Given the description of an element on the screen output the (x, y) to click on. 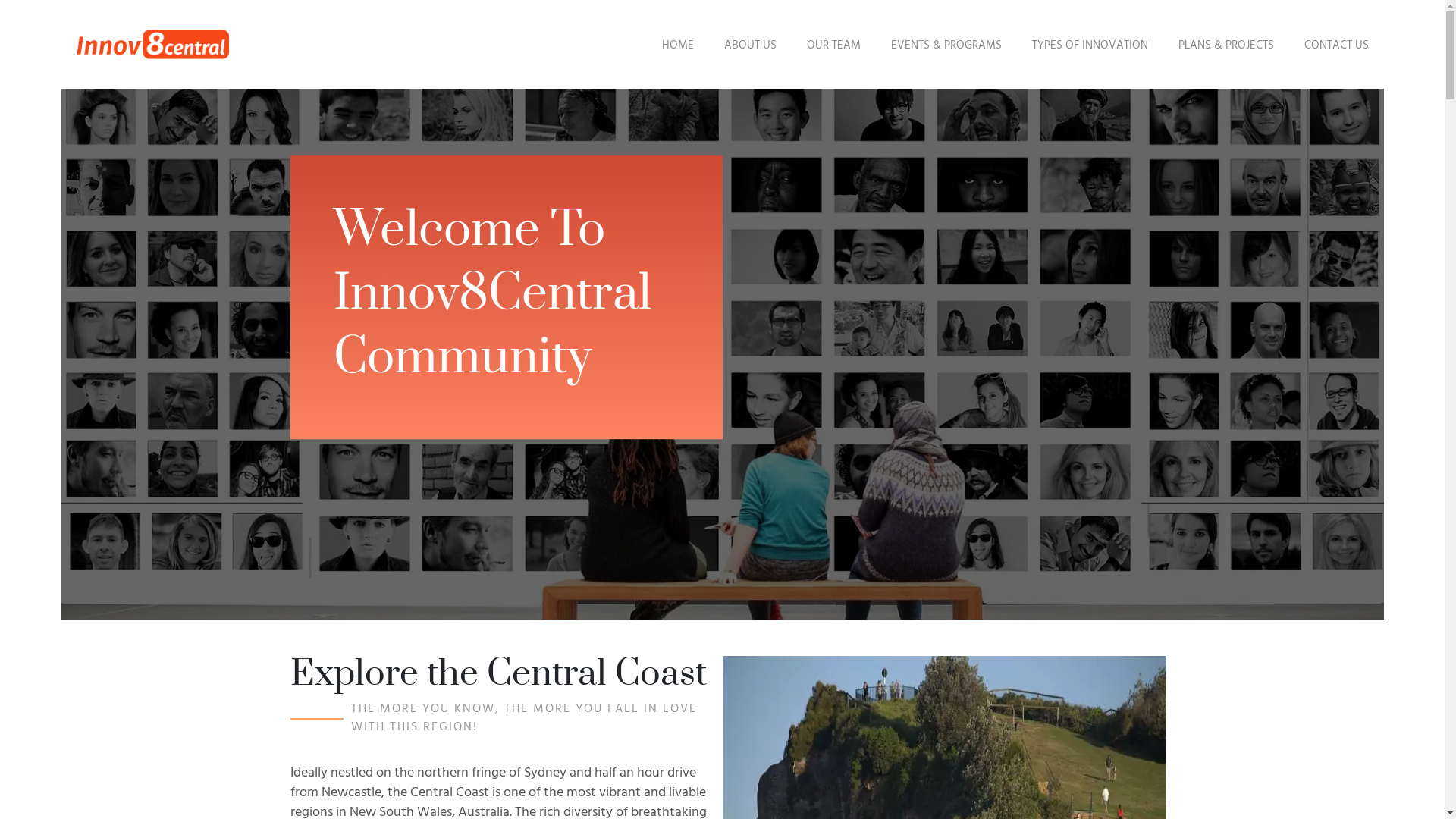
CONTACT US Element type: text (1336, 44)
TYPES OF INNOVATION Element type: text (1089, 44)
HOME Element type: text (677, 44)
OUR TEAM Element type: text (833, 44)
ABOUT US Element type: text (749, 44)
EVENTS & PROGRAMS Element type: text (946, 44)
PLANS & PROJECTS Element type: text (1226, 44)
